Given the description of an element on the screen output the (x, y) to click on. 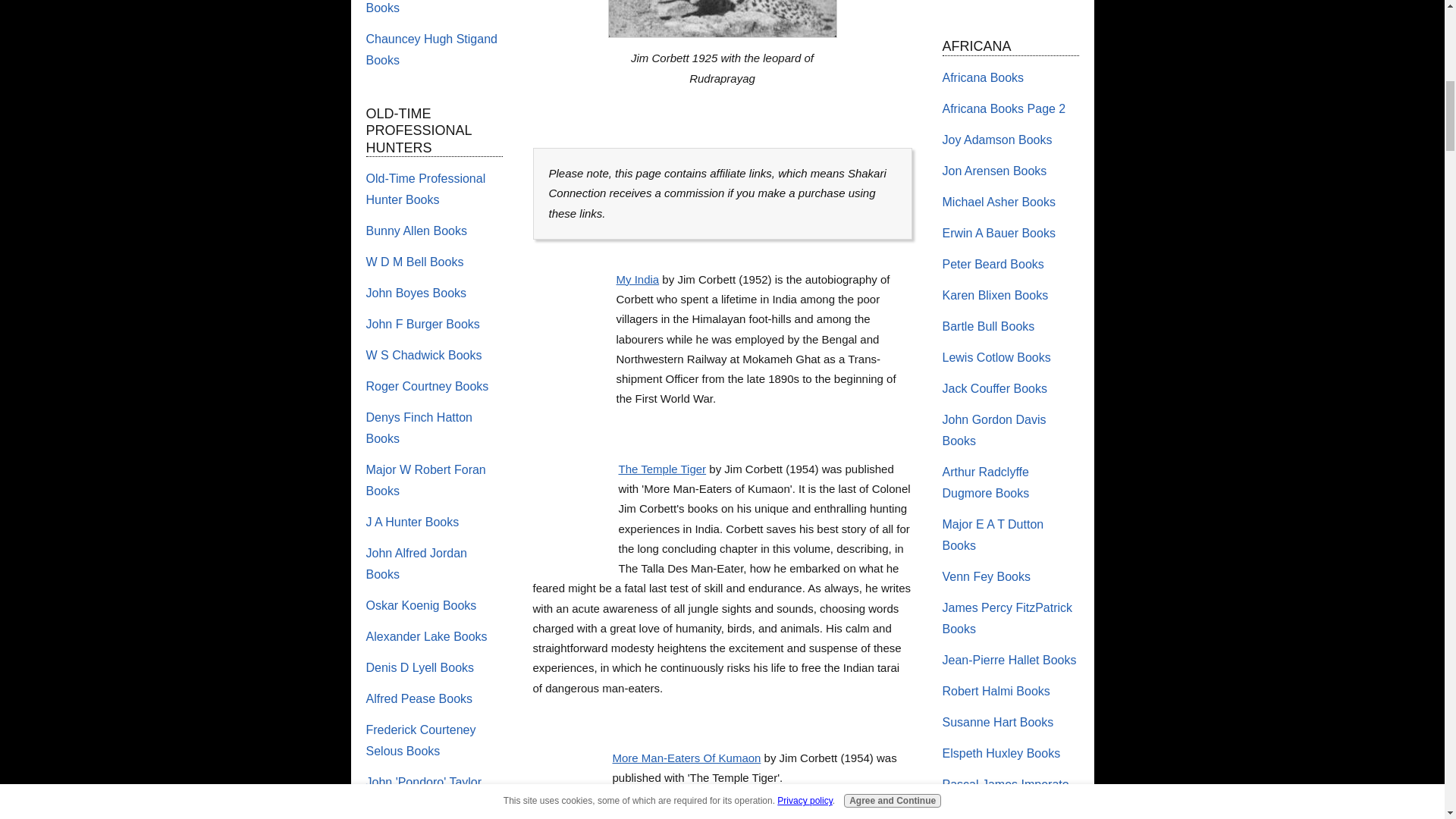
More Man-Eaters Of Kumaon (686, 757)
My India (637, 278)
Jim Corbett (722, 18)
More Man-Eaters Of Kumaon (569, 782)
The Temple Tiger (662, 468)
